Given the description of an element on the screen output the (x, y) to click on. 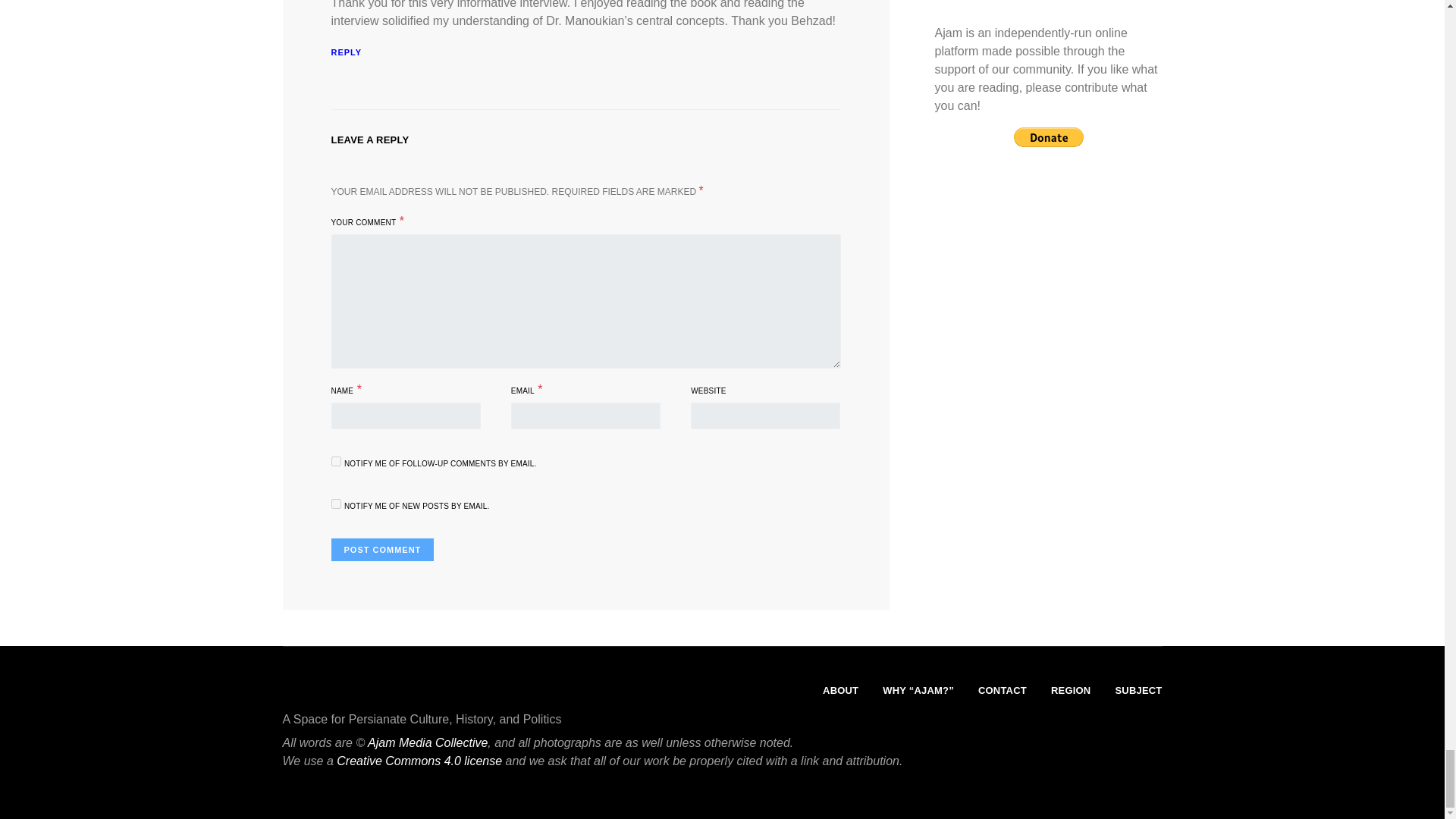
Post Comment (381, 549)
subscribe (335, 503)
subscribe (335, 461)
